Given the description of an element on the screen output the (x, y) to click on. 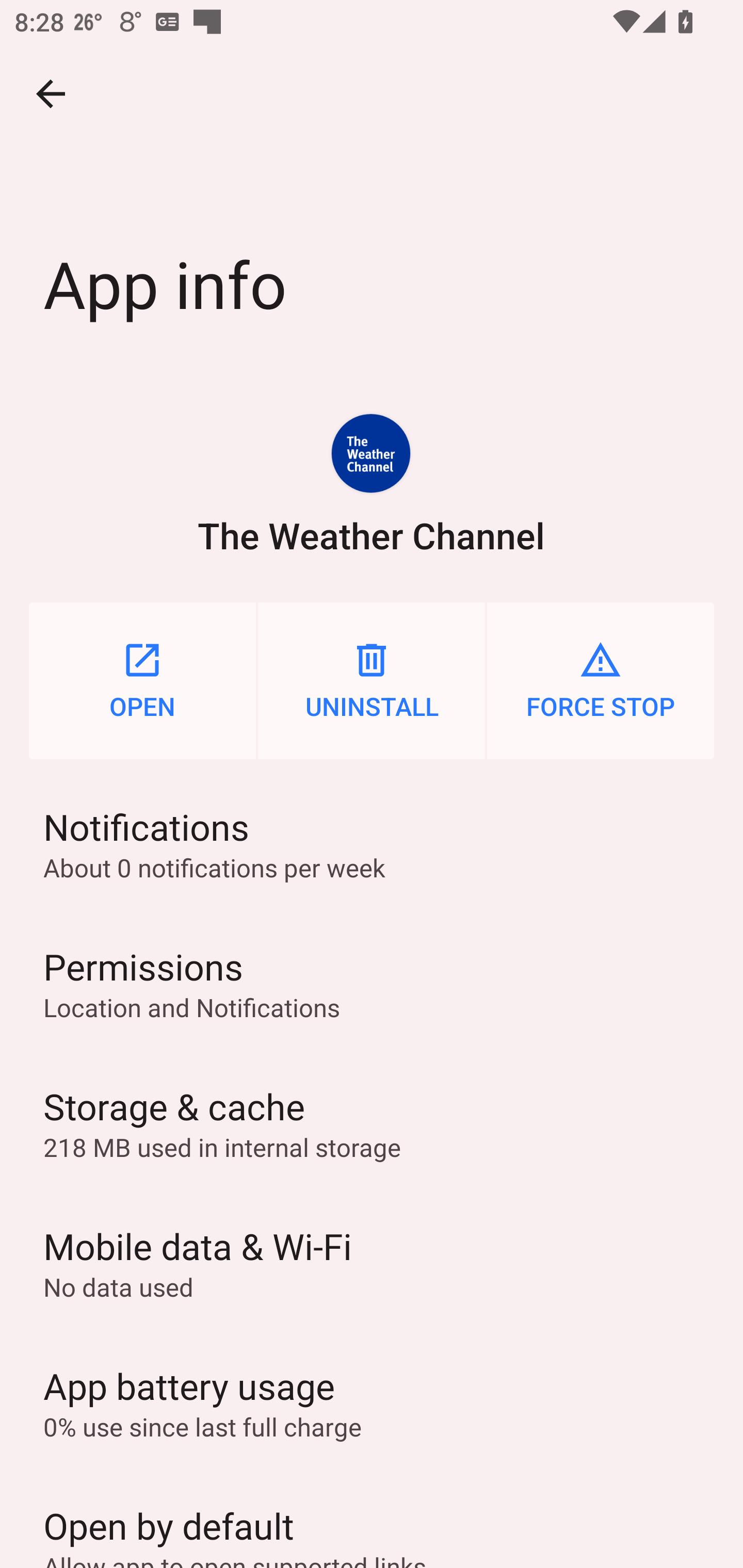
Navigate up (50, 93)
OPEN (141, 680)
UNINSTALL (371, 680)
FORCE STOP (600, 680)
Notifications About 0 notifications per week (371, 843)
Permissions Location and Notifications (371, 983)
Storage & cache 218 MB used in internal storage (371, 1123)
Mobile data & Wi‑Fi No data used (371, 1262)
App battery usage 0% use since last full charge (371, 1402)
Open by default Allow app to open supported links (371, 1520)
